Given the description of an element on the screen output the (x, y) to click on. 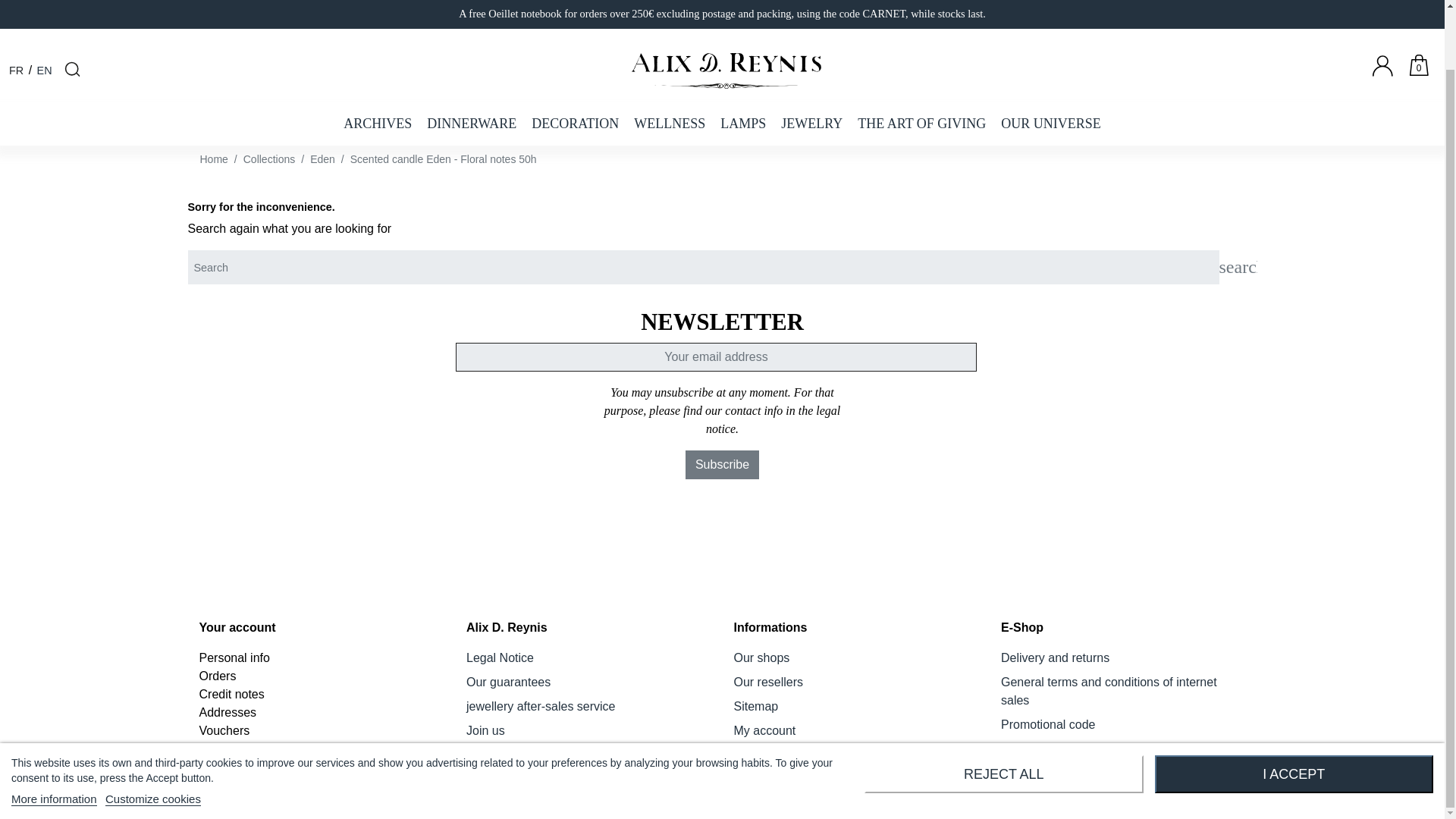
DINNERWARE (471, 58)
Log in to your customer account (1389, 12)
ARCHIVES (377, 58)
EN (44, 7)
DECORATION (575, 58)
ARCHIVES (377, 58)
Dinnerware (471, 58)
FR (15, 7)
